Given the description of an element on the screen output the (x, y) to click on. 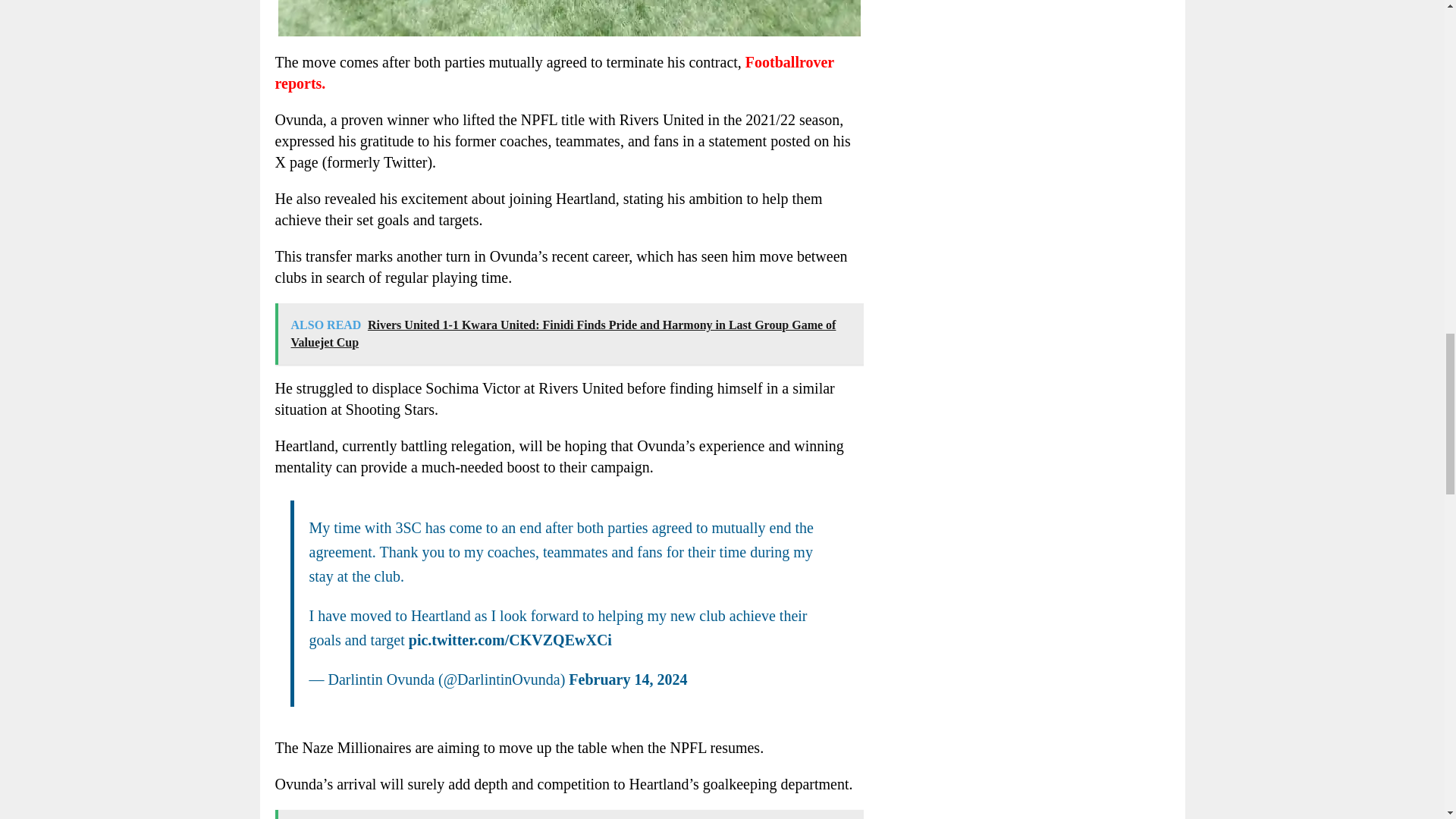
February 14, 2024 (628, 678)
Footballrover reports. (553, 72)
